Given the description of an element on the screen output the (x, y) to click on. 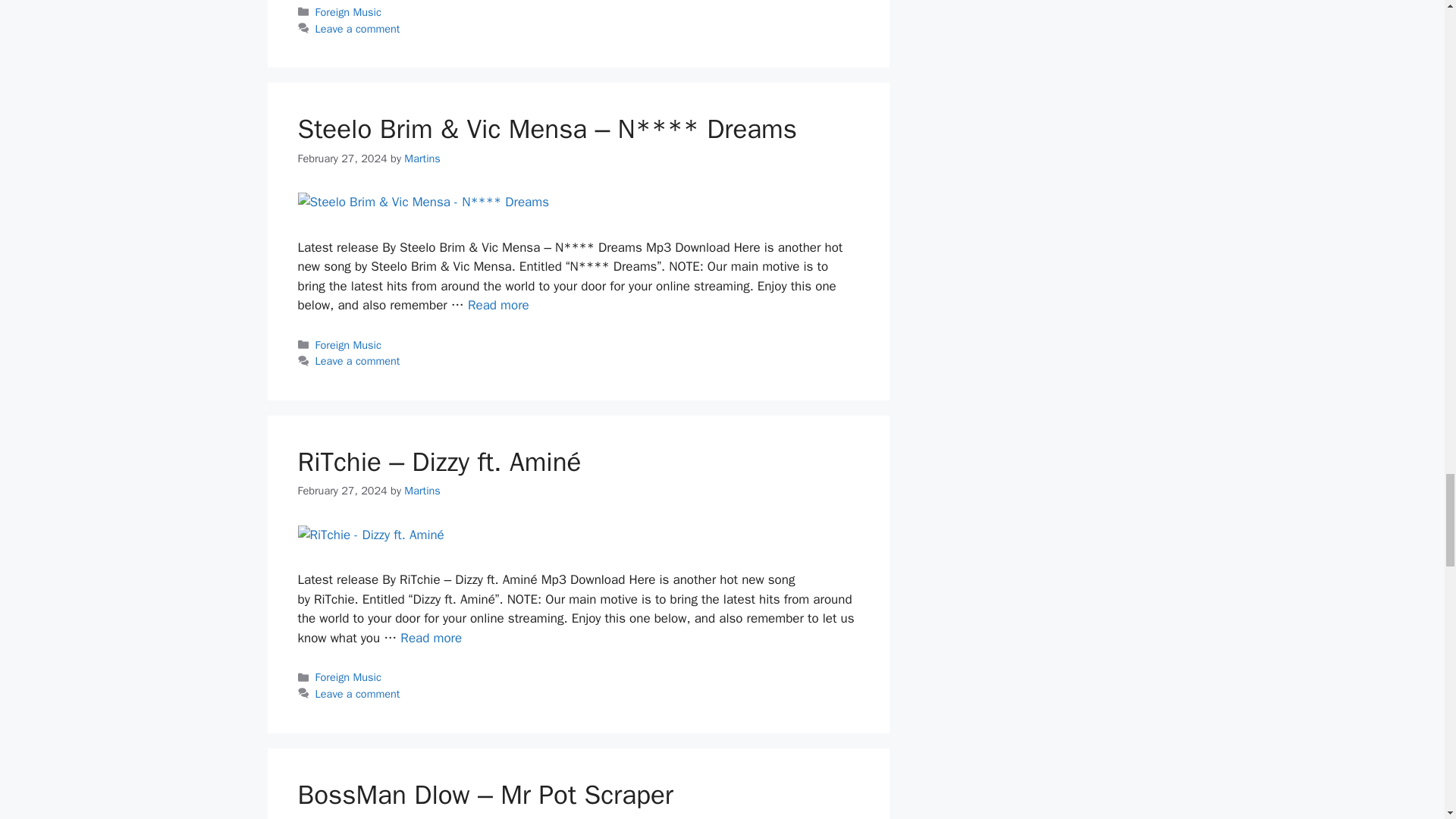
View all posts by Martins (422, 158)
View all posts by Martins (422, 490)
